Given the description of an element on the screen output the (x, y) to click on. 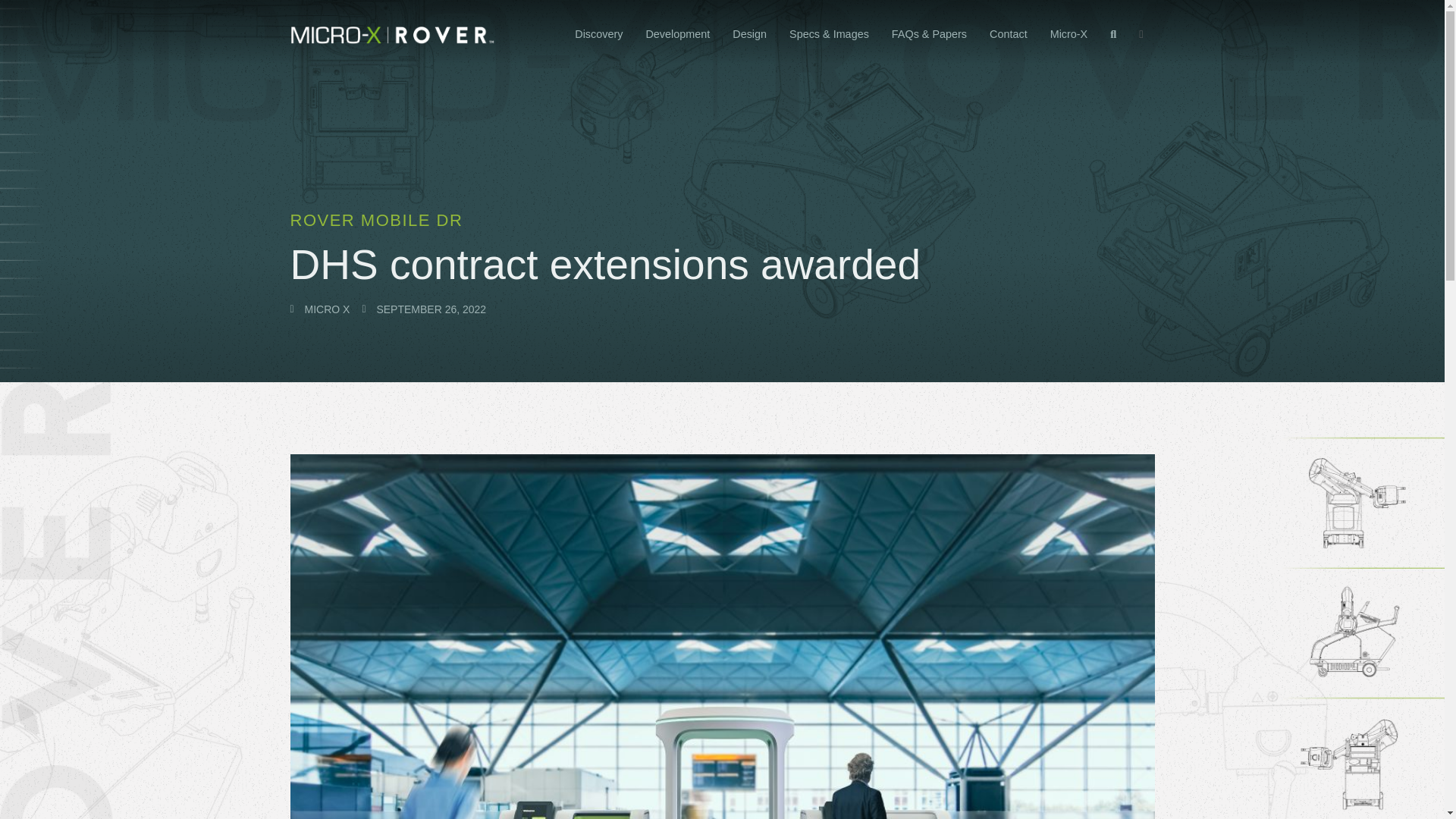
MICRO X (319, 309)
Discovery (598, 35)
Development (676, 35)
Discovery (598, 35)
SEPTEMBER 26, 2022 (423, 309)
Development (676, 35)
